Given the description of an element on the screen output the (x, y) to click on. 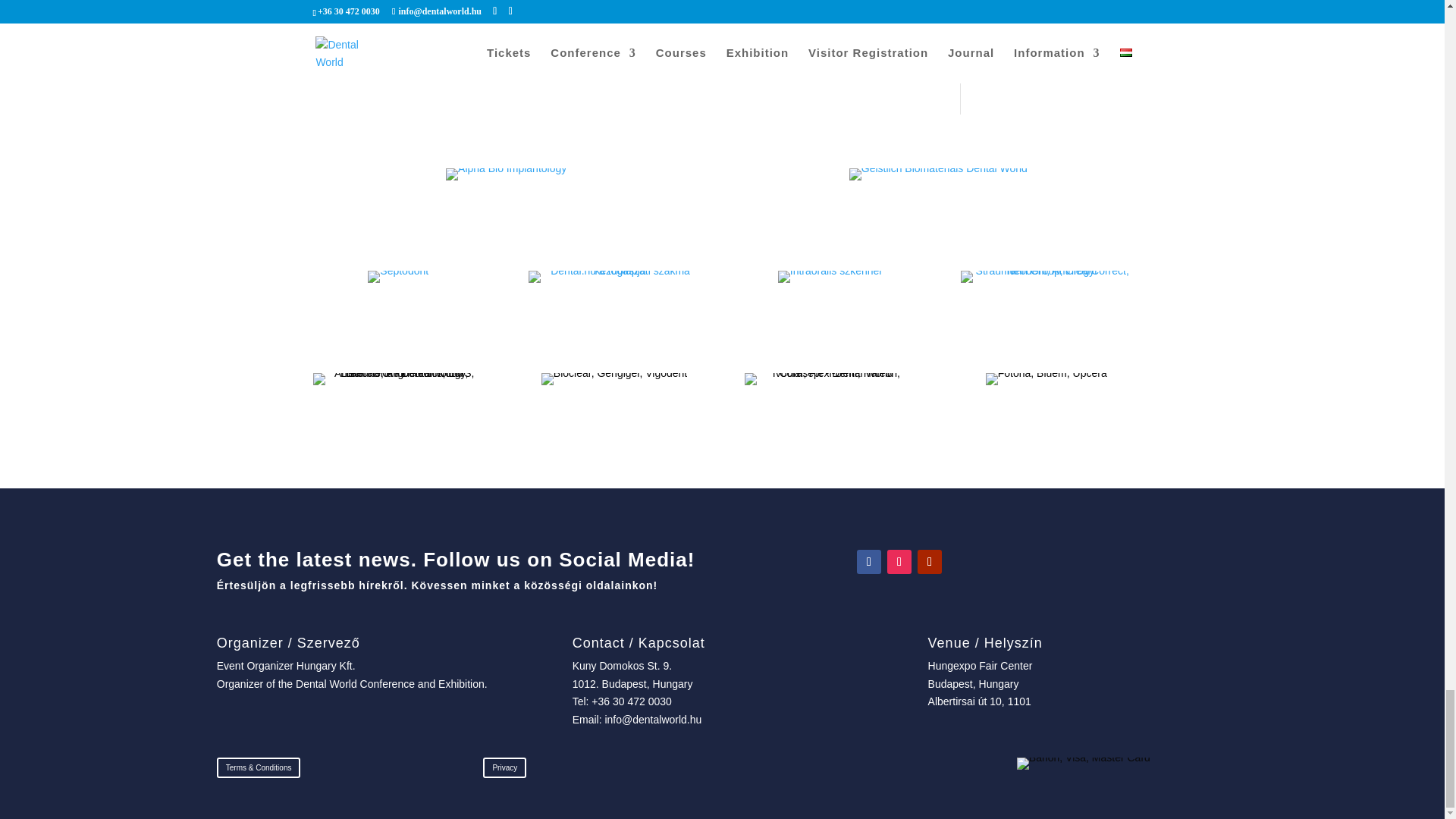
Alpha Bio (505, 206)
Geistlich (937, 206)
Privacy (504, 767)
